Given the description of an element on the screen output the (x, y) to click on. 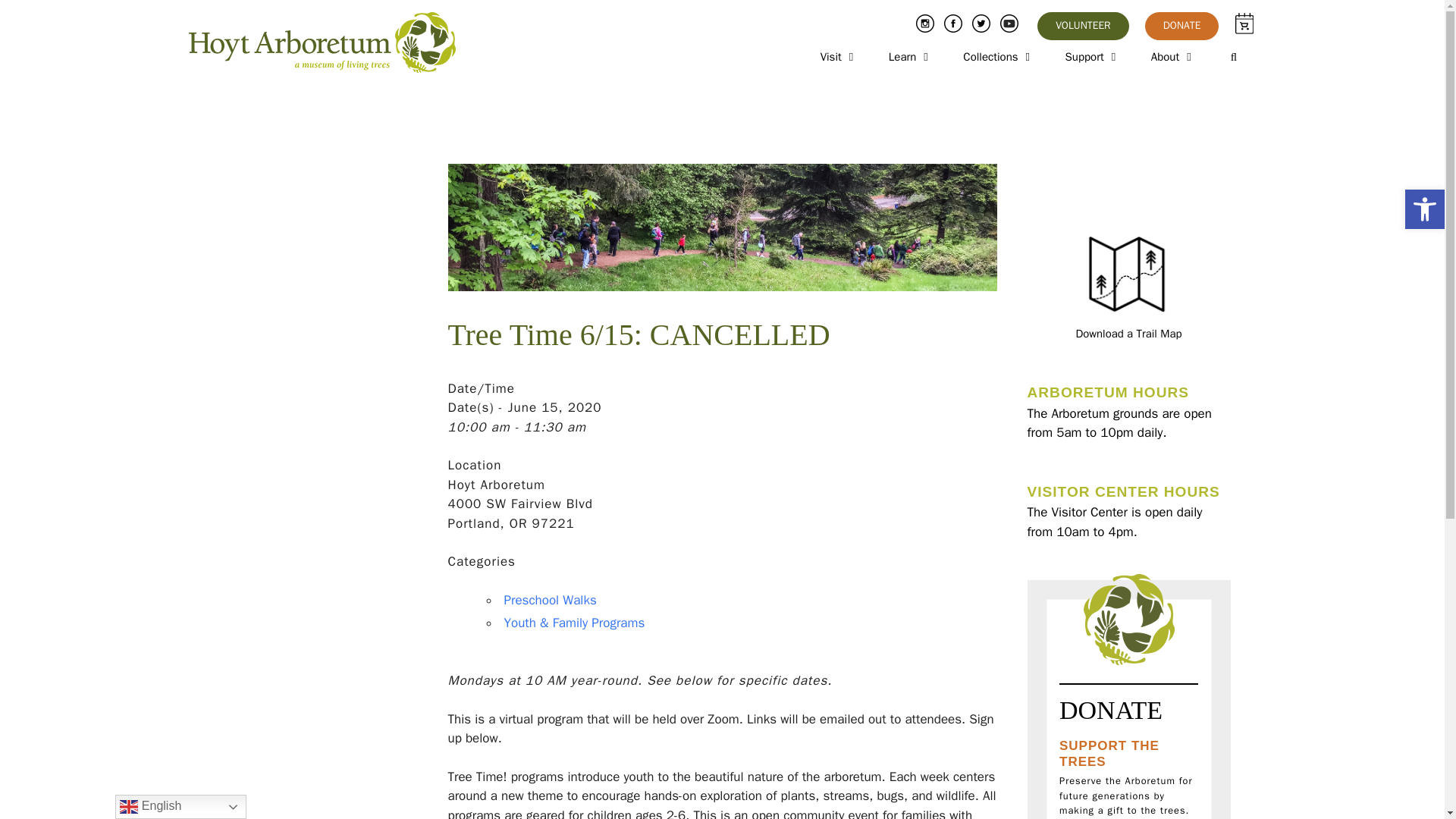
Accessibility Tools (1424, 209)
DONATE (1182, 26)
Visit (839, 57)
Learn (911, 57)
VOLUNTEER (1082, 26)
